Given the description of an element on the screen output the (x, y) to click on. 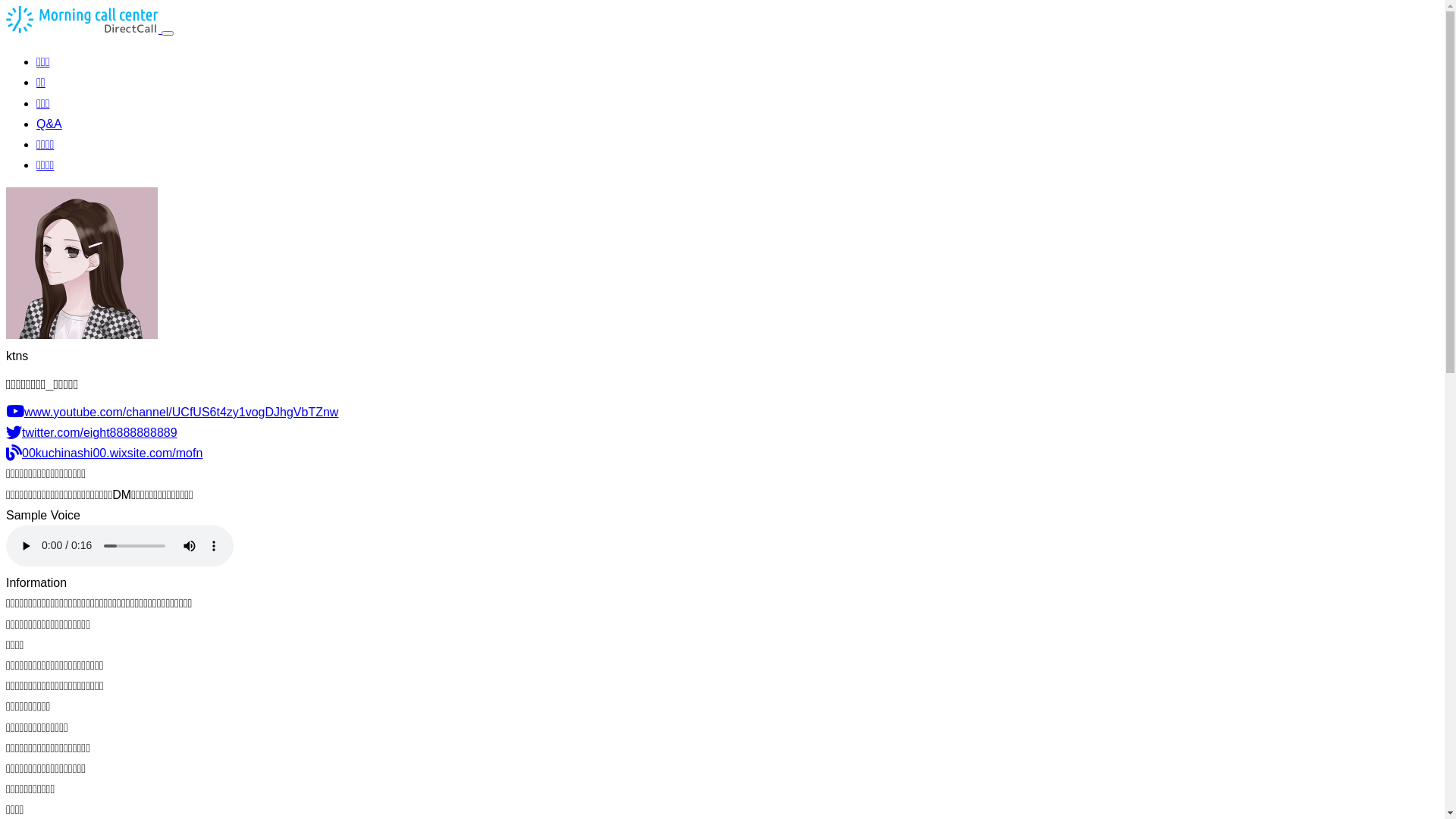
twitter.com/eight8888888889 Element type: text (91, 432)
www.youtube.com/channel/UCfUS6t4zy1vogDJhgVbTZnw Element type: text (172, 411)
00kuchinashi00.wixsite.com/mofn Element type: text (104, 452)
Q&A Element type: text (49, 123)
